Given the description of an element on the screen output the (x, y) to click on. 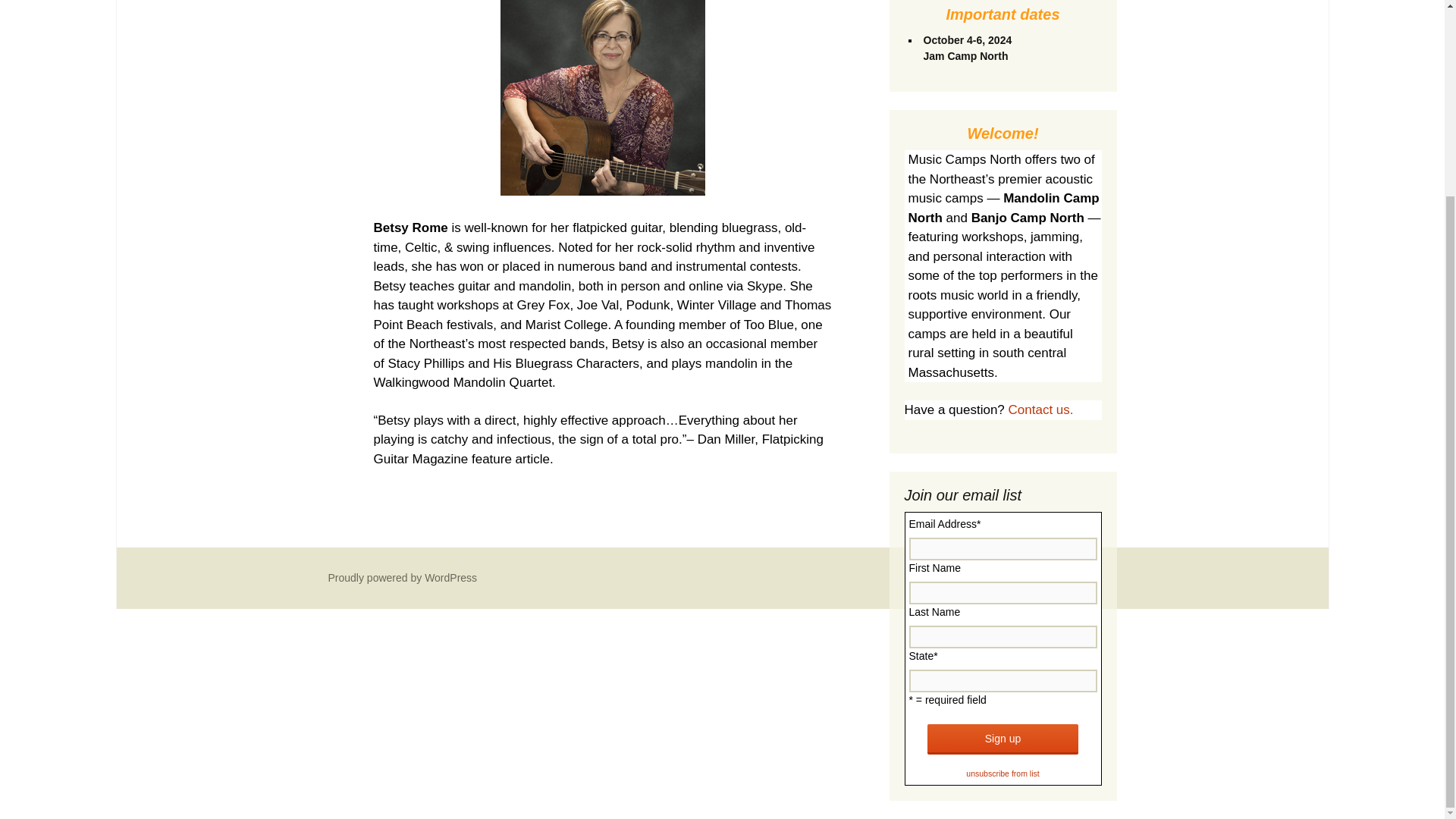
Sign up (1002, 738)
Sign up (1002, 738)
unsubscribe from list (1002, 772)
Proudly powered by WordPress (402, 577)
Contact us. (1041, 409)
